Given the description of an element on the screen output the (x, y) to click on. 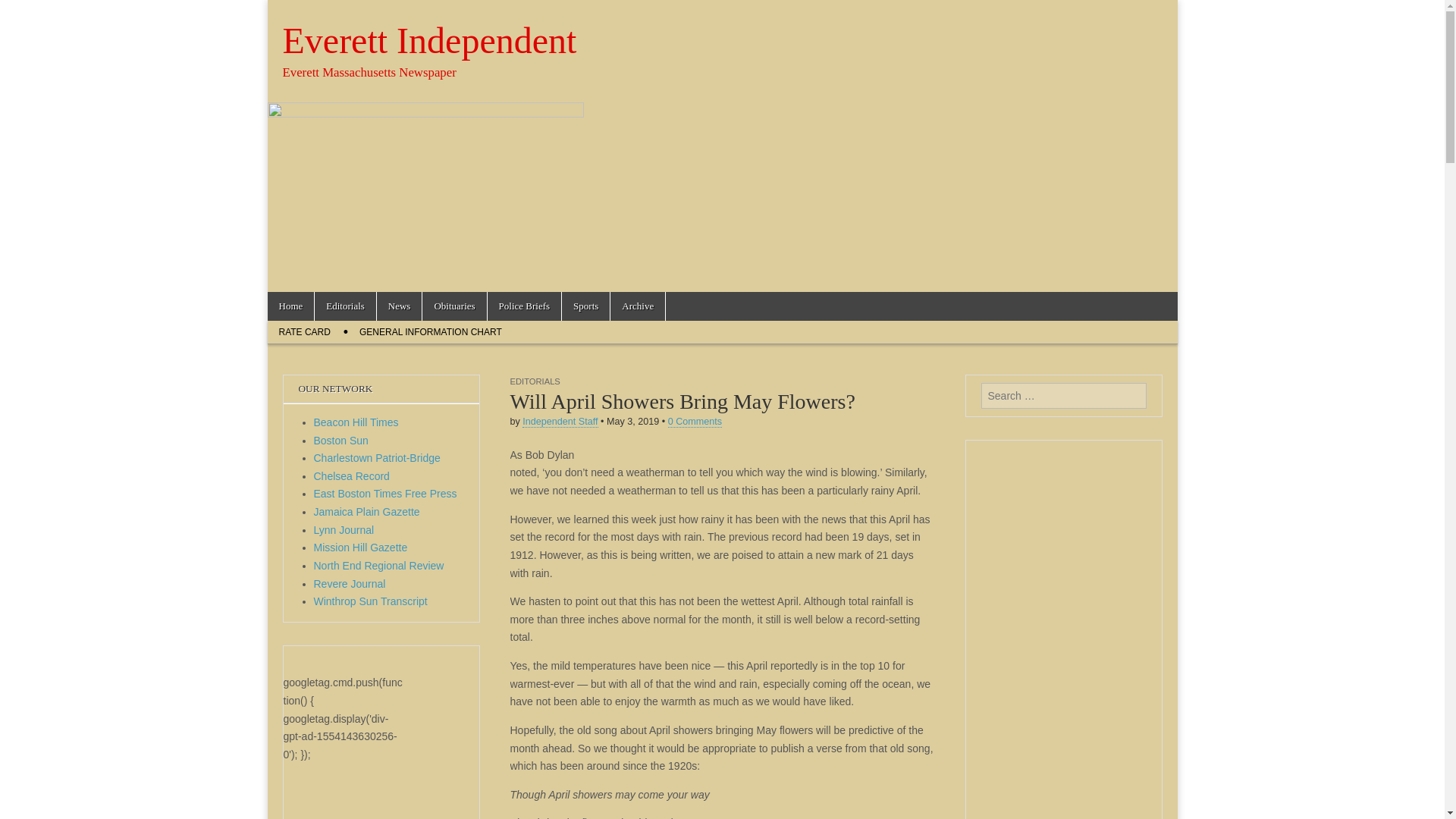
East Boston Times Free Press (385, 493)
Boston Sun (341, 440)
Jamaica Plain Gazette (367, 511)
Chelsea Record (352, 476)
EDITORIALS (534, 380)
Lynn Journal (344, 530)
Obituaries (454, 306)
Beacon Hill Times (356, 422)
Independent Staff (559, 421)
North End Regional Review (379, 565)
News (399, 306)
Everett Independent (429, 40)
Police Briefs (524, 306)
Charlestown Patriot-Bridge (377, 458)
Sports (586, 306)
